Given the description of an element on the screen output the (x, y) to click on. 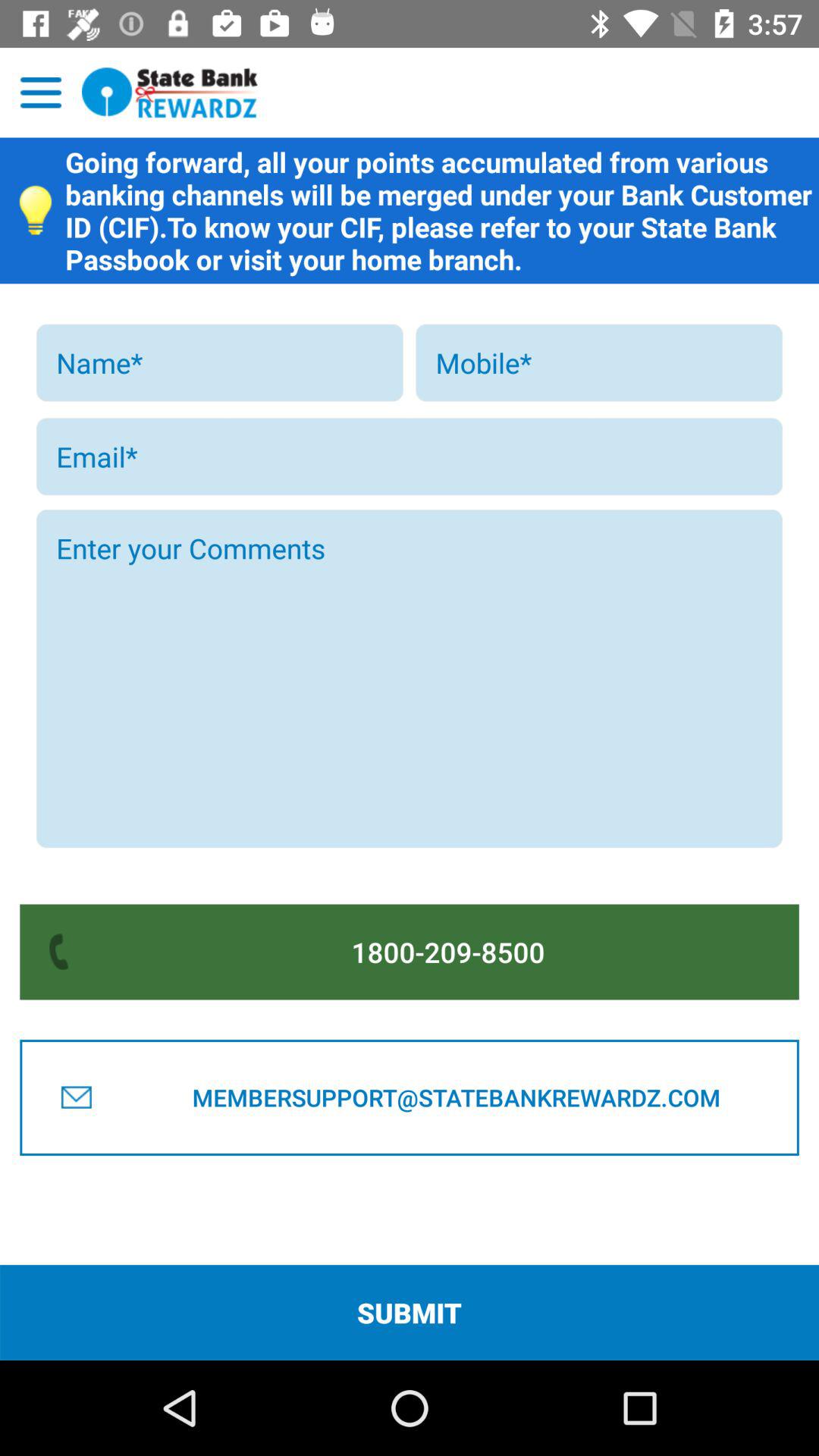
tap the submit item (409, 1312)
